Given the description of an element on the screen output the (x, y) to click on. 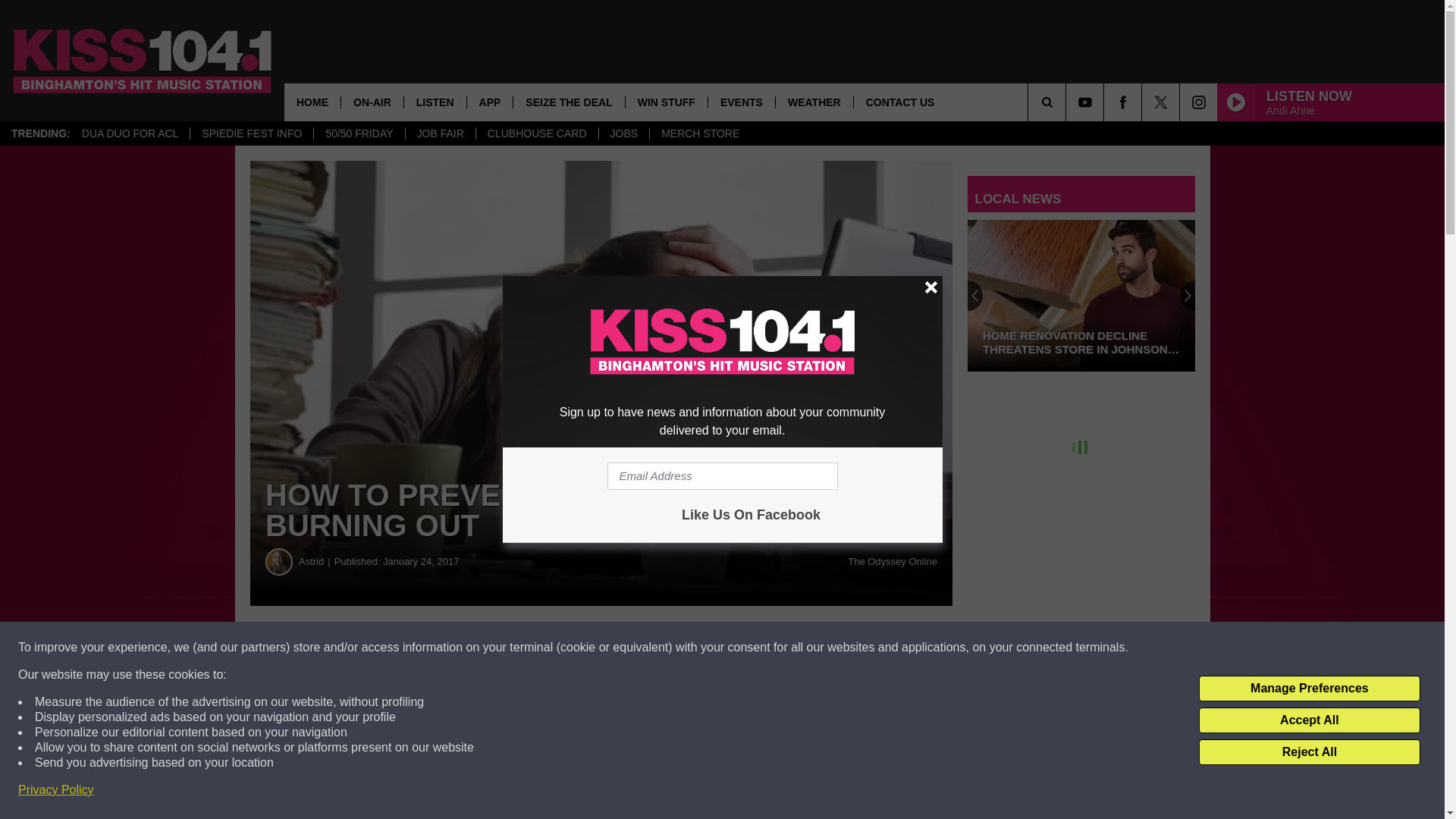
JOB FAIR (440, 133)
WEATHER (813, 102)
JOBS (623, 133)
MERCH STORE (700, 133)
Manage Preferences (1309, 688)
Share on Twitter (741, 647)
Accept All (1309, 720)
SEIZE THE DEAL (568, 102)
SEARCH (1068, 102)
APP (489, 102)
DUA DUO FOR ACL (129, 133)
ON-AIR (371, 102)
Privacy Policy (55, 789)
LISTEN (434, 102)
WIN STUFF (665, 102)
